Given the description of an element on the screen output the (x, y) to click on. 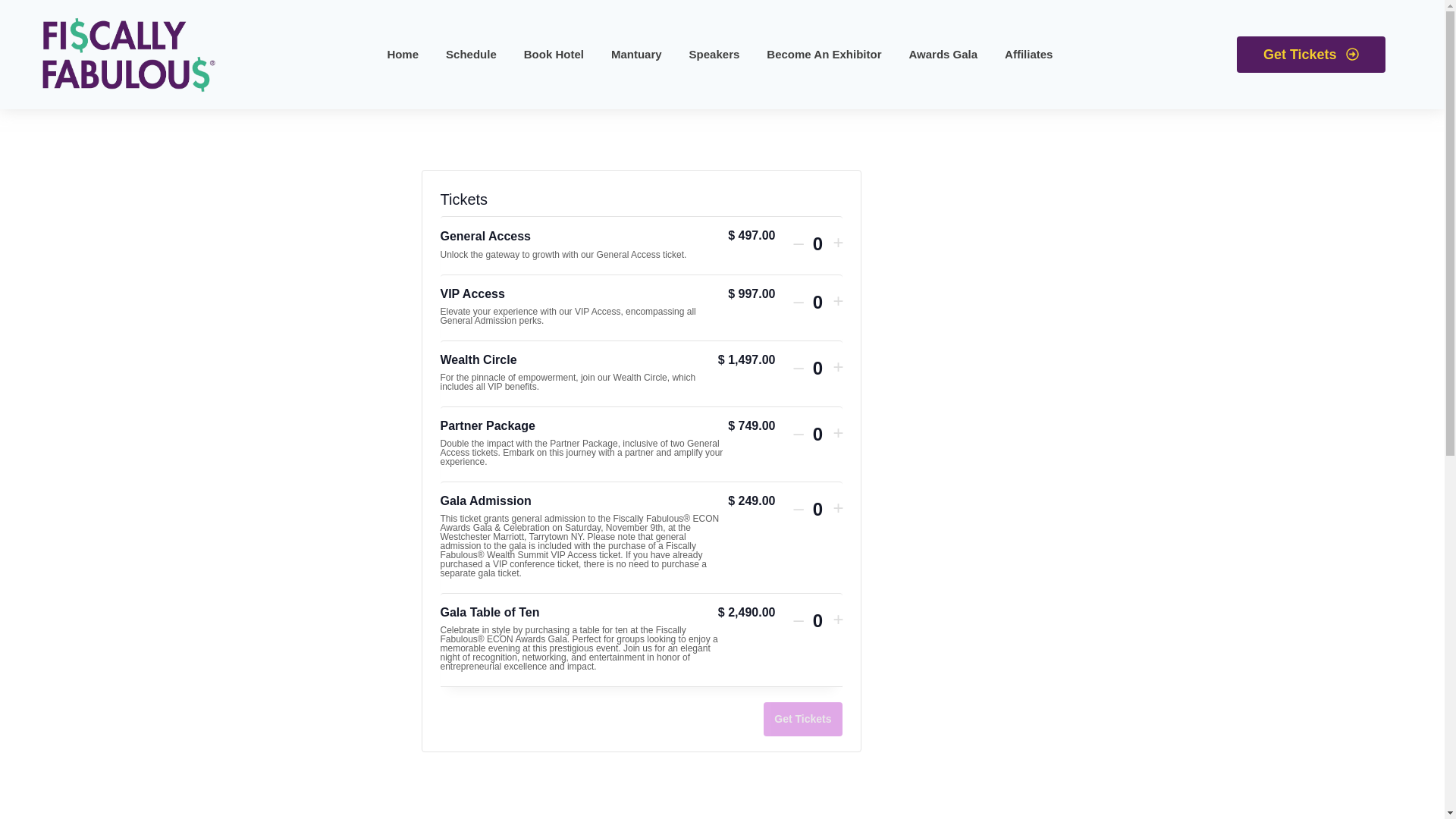
0 (817, 368)
0 (817, 302)
Get Tickets (1311, 54)
Schedule (470, 53)
Mantuary (636, 53)
Book Hotel (553, 53)
0 (817, 620)
Affiliates (1028, 53)
Home (403, 53)
Get Tickets (801, 718)
